Given the description of an element on the screen output the (x, y) to click on. 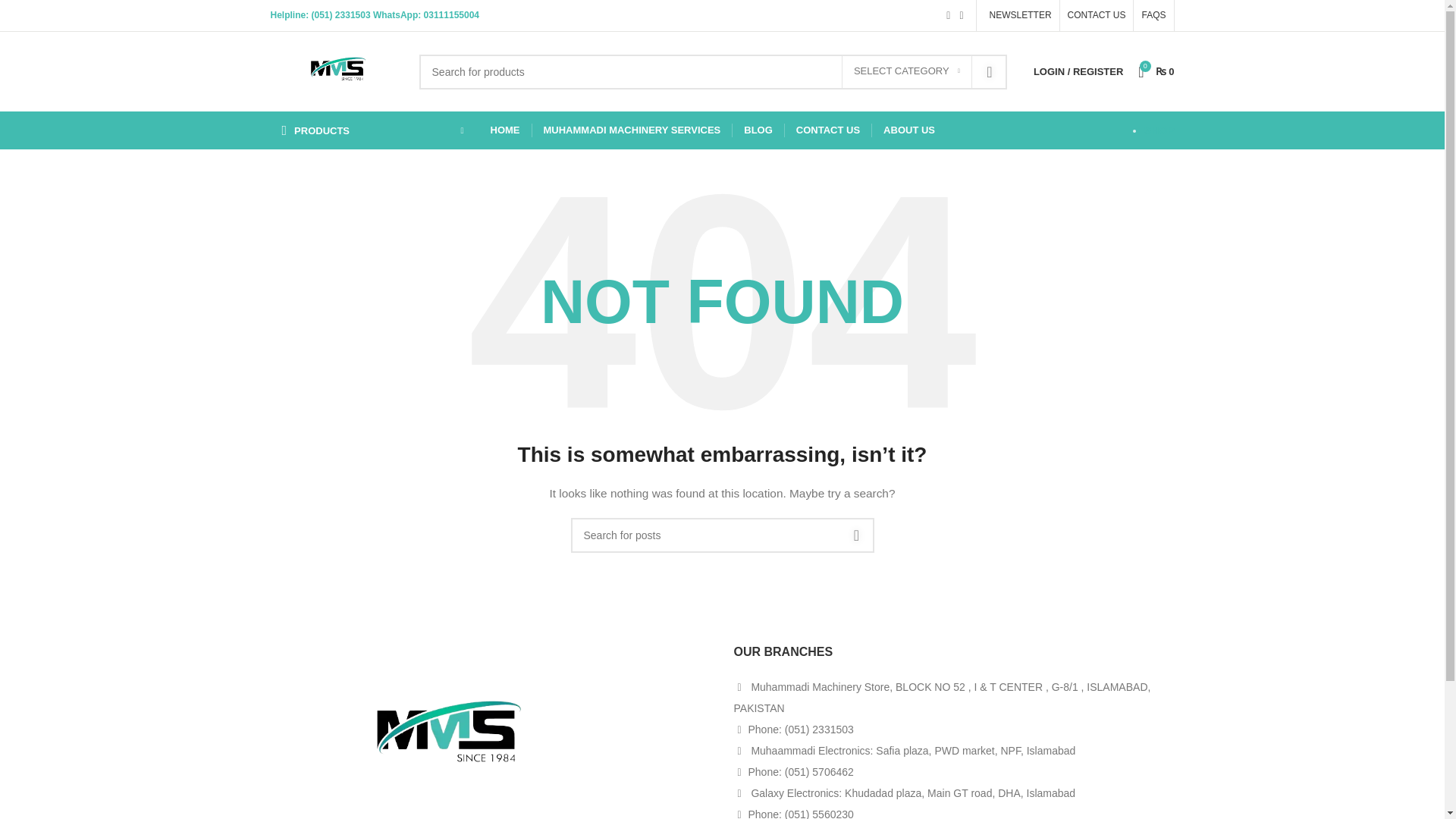
SELECT CATEGORY (906, 71)
Search for posts (721, 534)
SELECT CATEGORY (906, 71)
My account (1078, 71)
CONTACT US (1096, 15)
Shopping cart (1155, 71)
Search for products (713, 71)
NEWSLETTER (1017, 15)
03111155004 (451, 14)
